Given the description of an element on the screen output the (x, y) to click on. 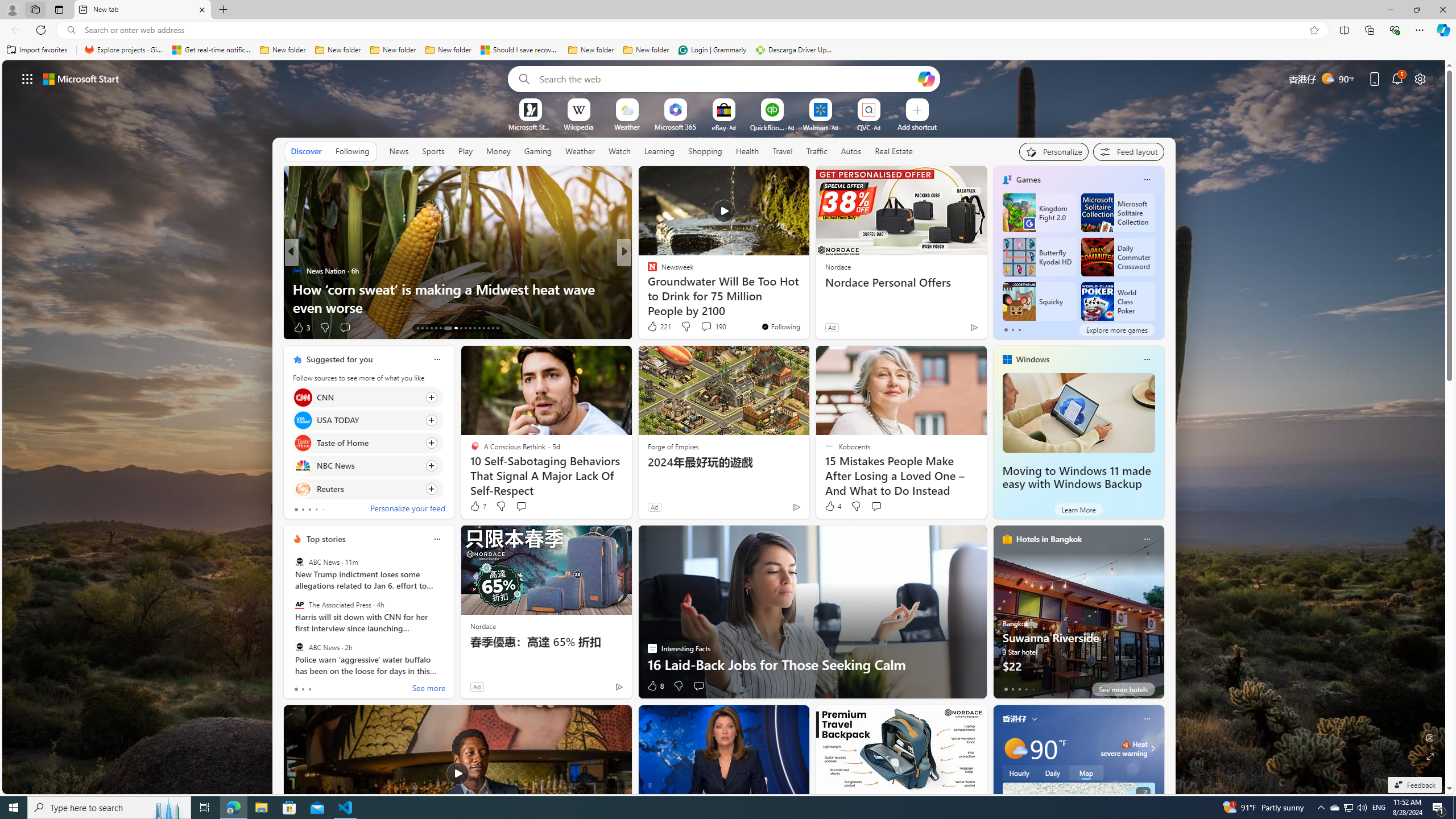
Travel (782, 151)
Moving to Windows 11 made easy with Windows Backup (1076, 477)
Browser essentials (1394, 29)
AutomationID: tab-17 (435, 328)
Search (520, 78)
App launcher (27, 78)
Feedback (1414, 784)
Shopping (705, 151)
Taste of Home (302, 443)
See more hotels (1123, 689)
previous (288, 611)
Forge of Empires (672, 446)
